Given the description of an element on the screen output the (x, y) to click on. 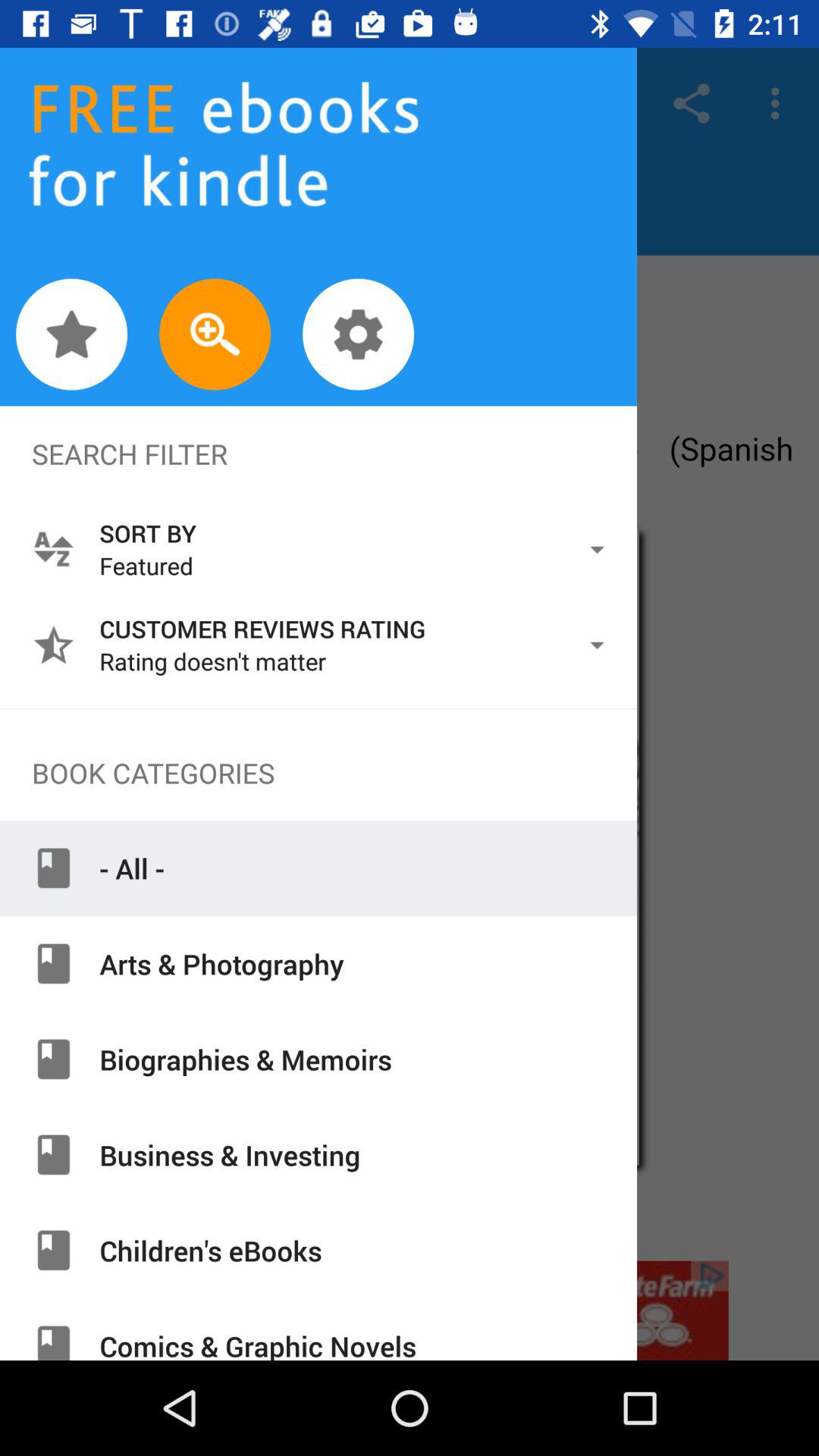
kindle ebook selection (409, 757)
